Given the description of an element on the screen output the (x, y) to click on. 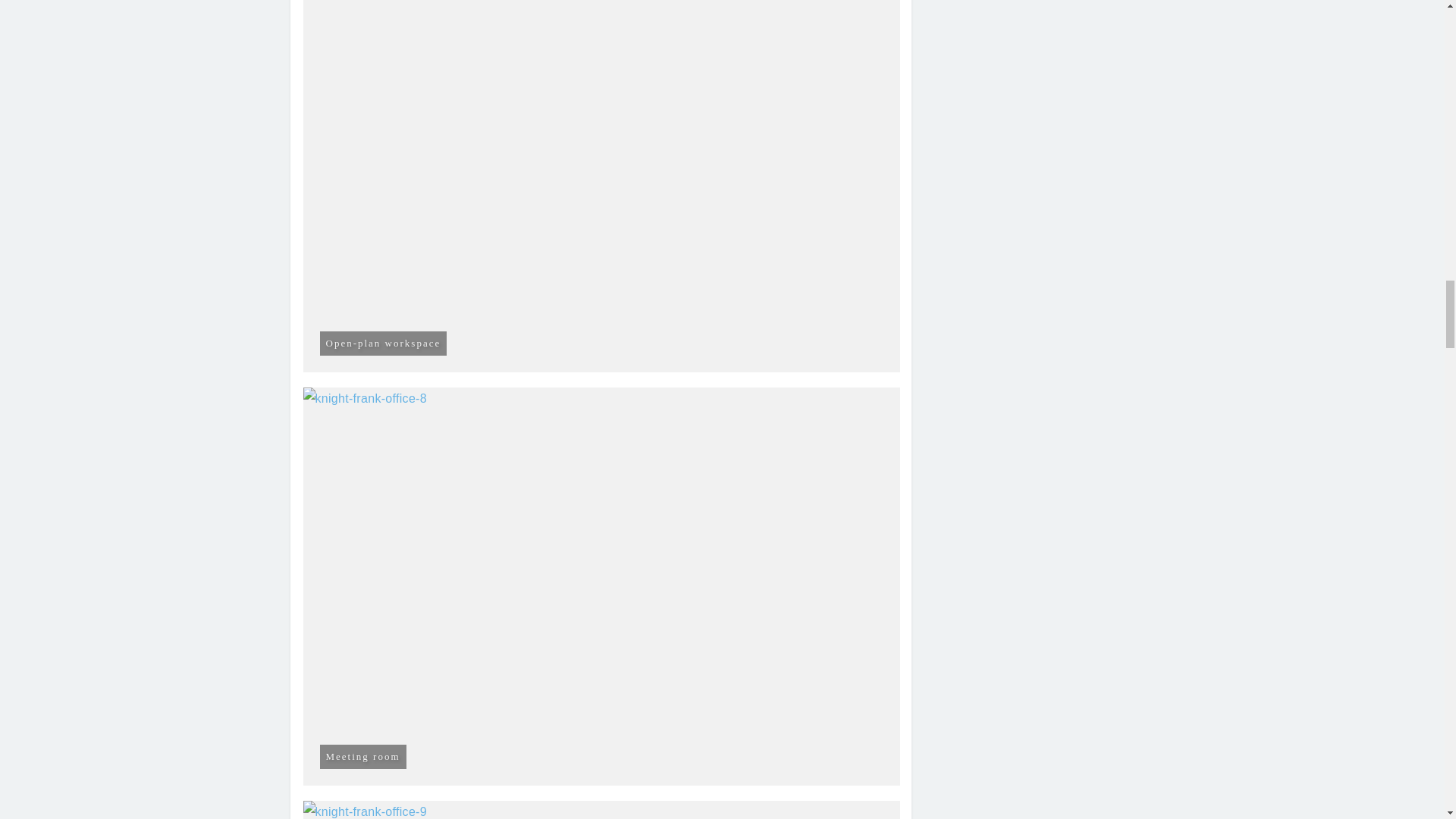
Collaborative space (601, 809)
